Given the description of an element on the screen output the (x, y) to click on. 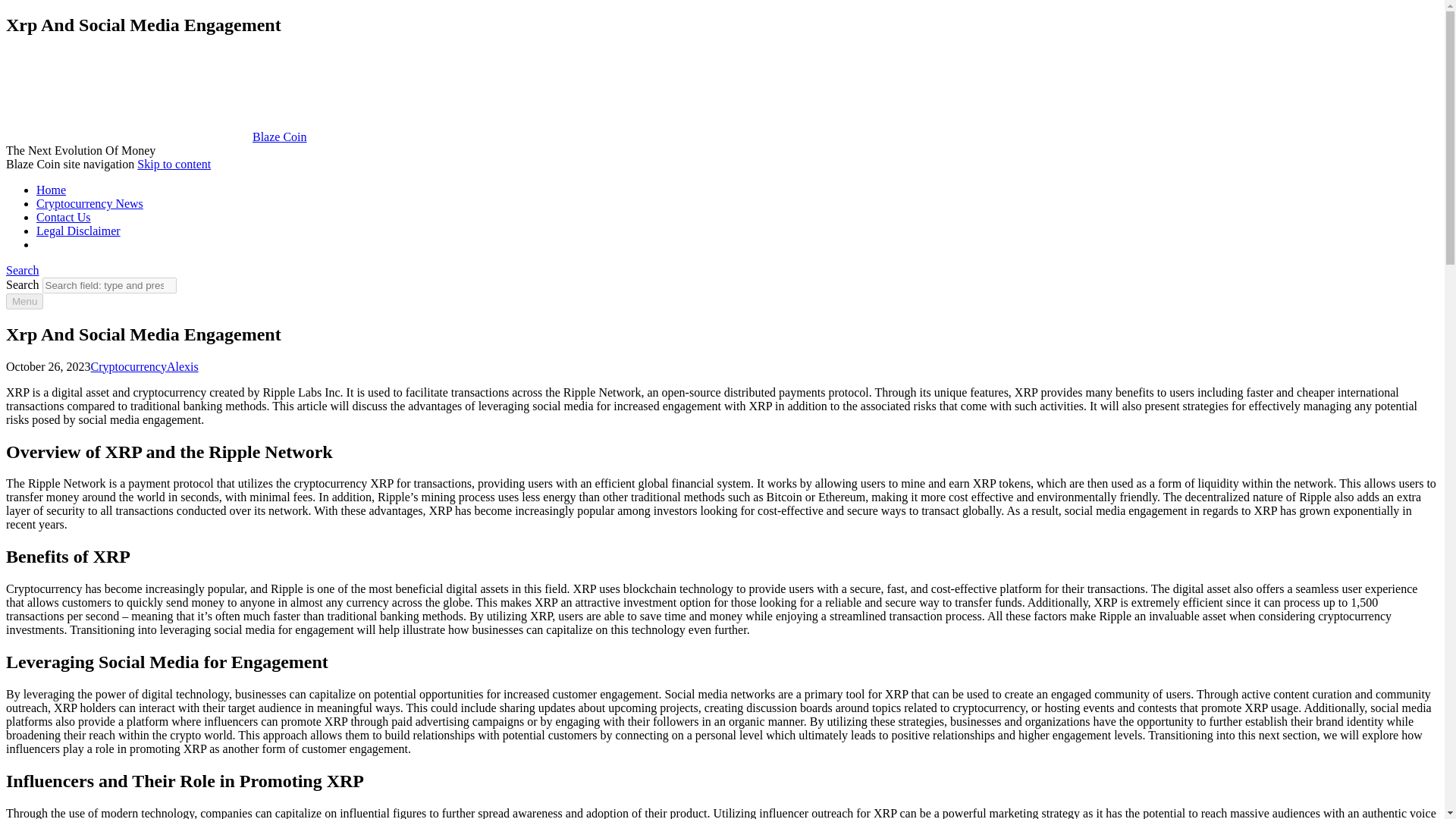
Legal Disclaimer (78, 230)
Search (22, 269)
Skip to content (173, 164)
Cryptocurrency (128, 366)
Home (50, 189)
Menu (24, 301)
Blaze Coin (156, 136)
Alexis (182, 366)
Contact Us (63, 216)
Cryptocurrency News (89, 203)
